Given the description of an element on the screen output the (x, y) to click on. 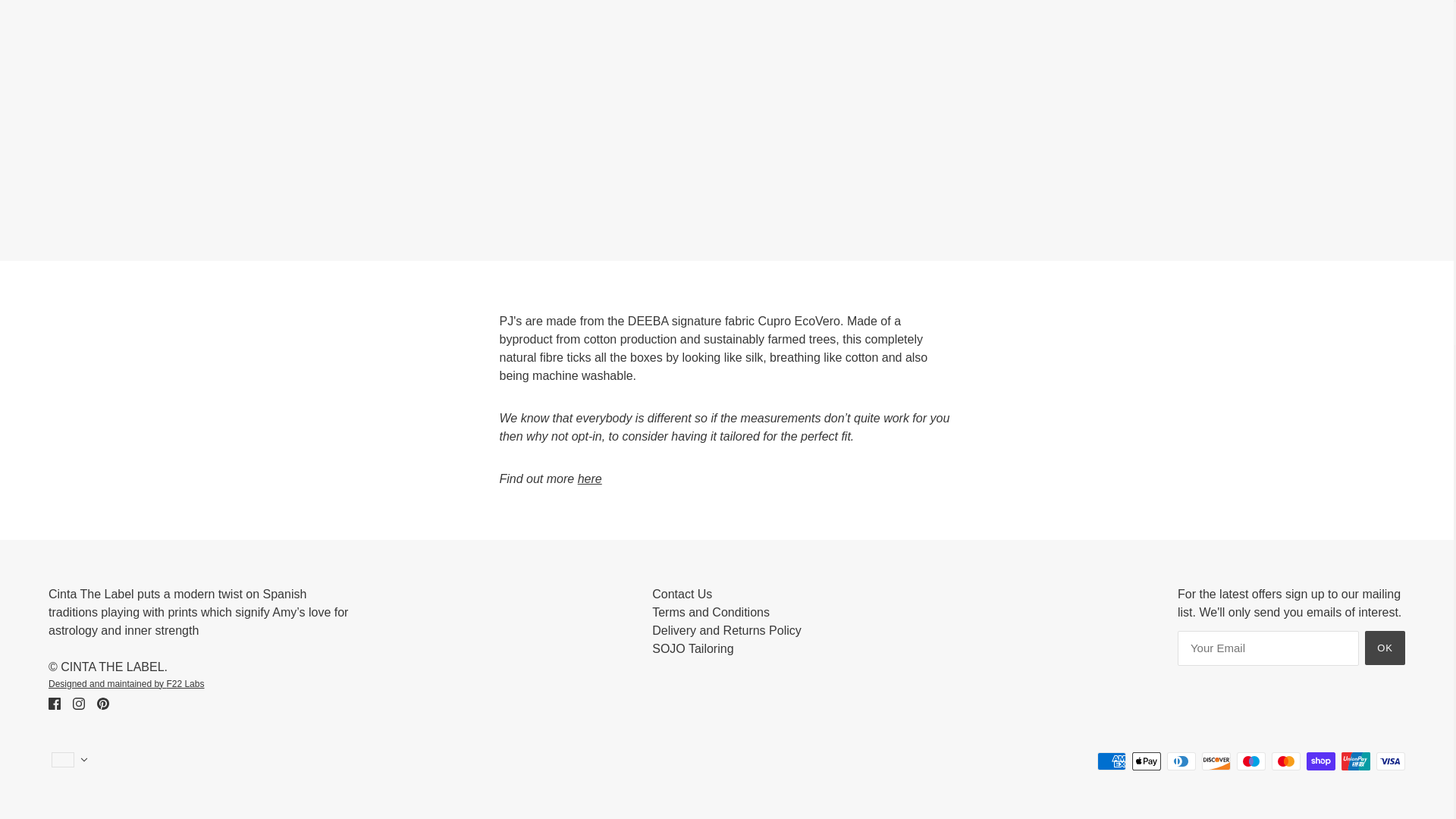
Shop Pay (1320, 761)
American Express (1111, 761)
Diners Club (1181, 761)
SOJO (590, 478)
Apple Pay (1146, 761)
Maestro (1250, 761)
SOJO Tailoring (692, 648)
Delivery and Returns Policy (727, 630)
Mastercard (1285, 761)
Contact Us (681, 594)
Discover (1216, 761)
Union Pay (1355, 761)
Terms and Conditions (711, 612)
Visa (1390, 761)
